Given the description of an element on the screen output the (x, y) to click on. 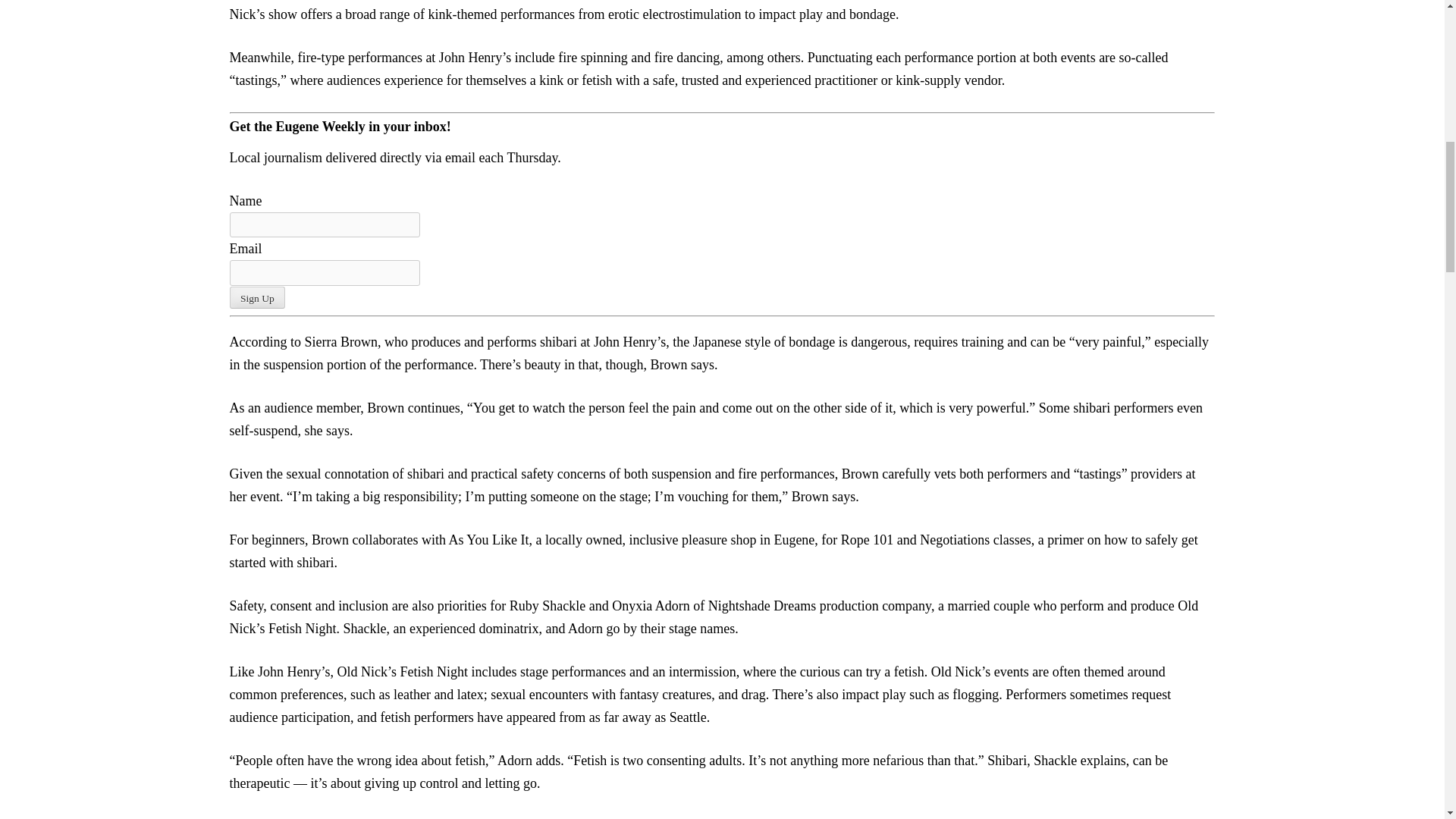
Sign Up (256, 297)
